Given the description of an element on the screen output the (x, y) to click on. 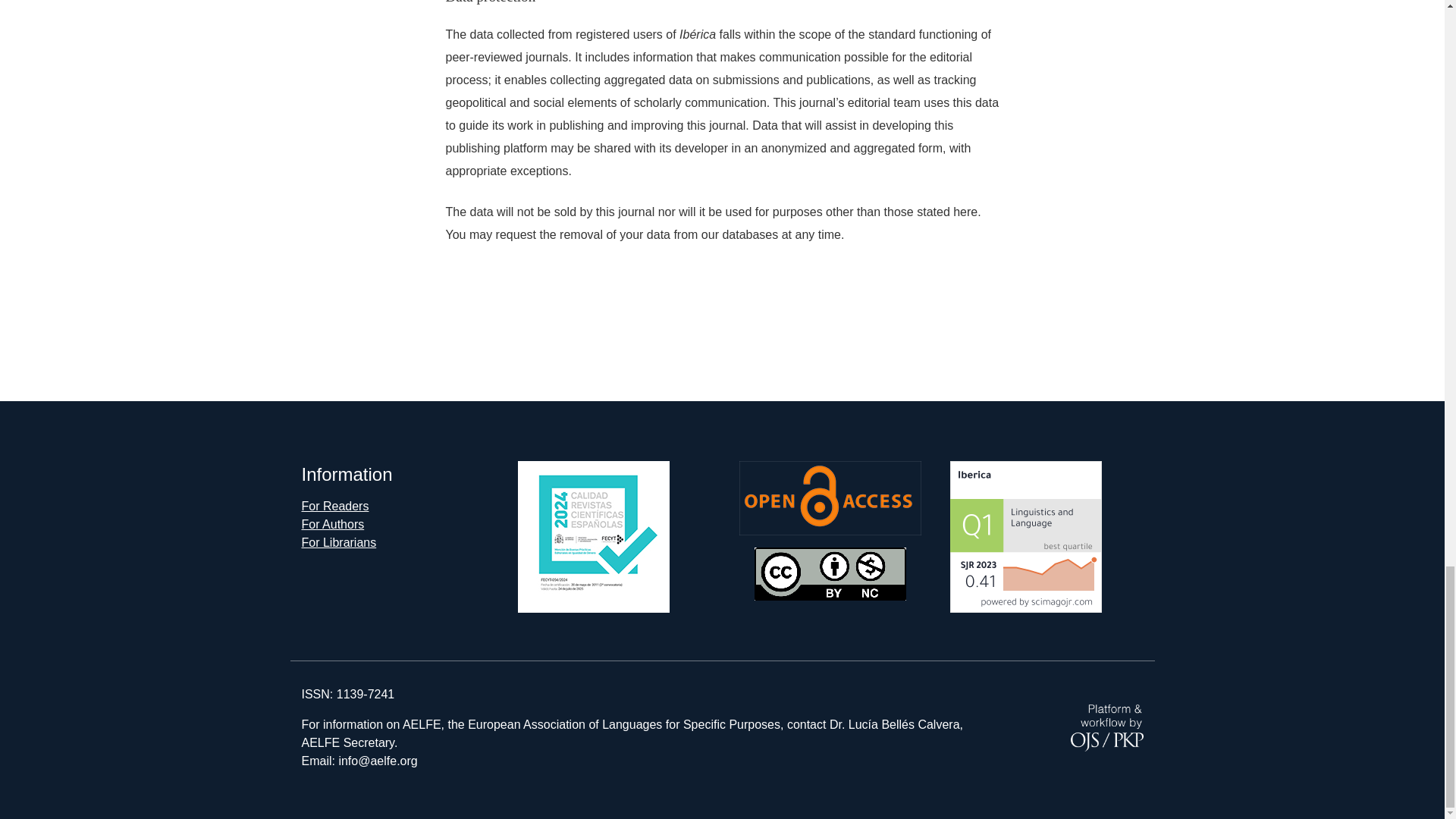
For Authors (333, 523)
For Librarians (339, 542)
For Readers (335, 505)
